Given the description of an element on the screen output the (x, y) to click on. 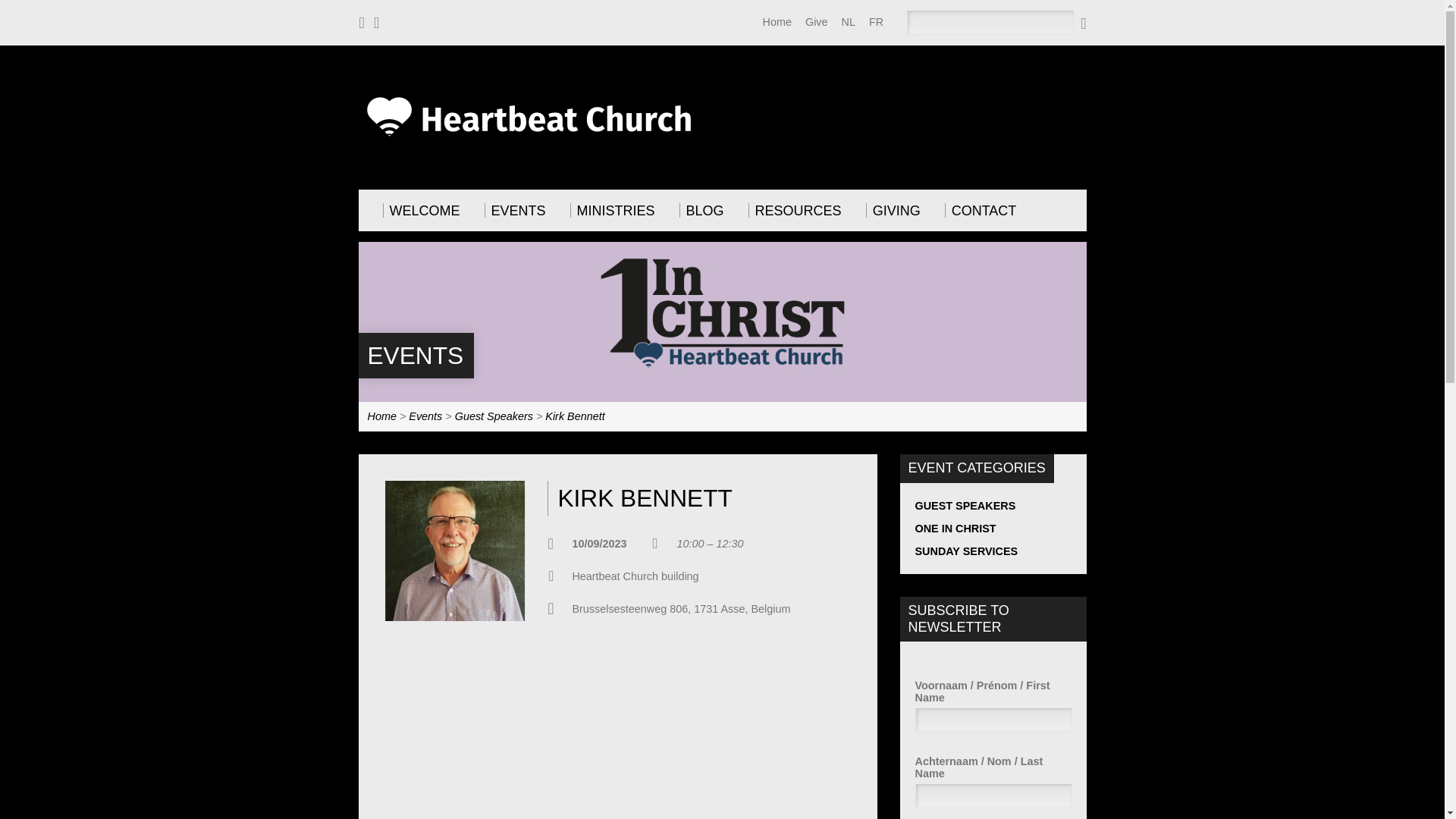
Events (425, 416)
MINISTRIES (612, 210)
RESOURCES (794, 210)
SUNDAY SERVICES (965, 551)
Home (381, 416)
Give (816, 21)
EVENTS (515, 210)
Home (777, 21)
Events (414, 355)
GUEST SPEAKERS (964, 505)
